Given the description of an element on the screen output the (x, y) to click on. 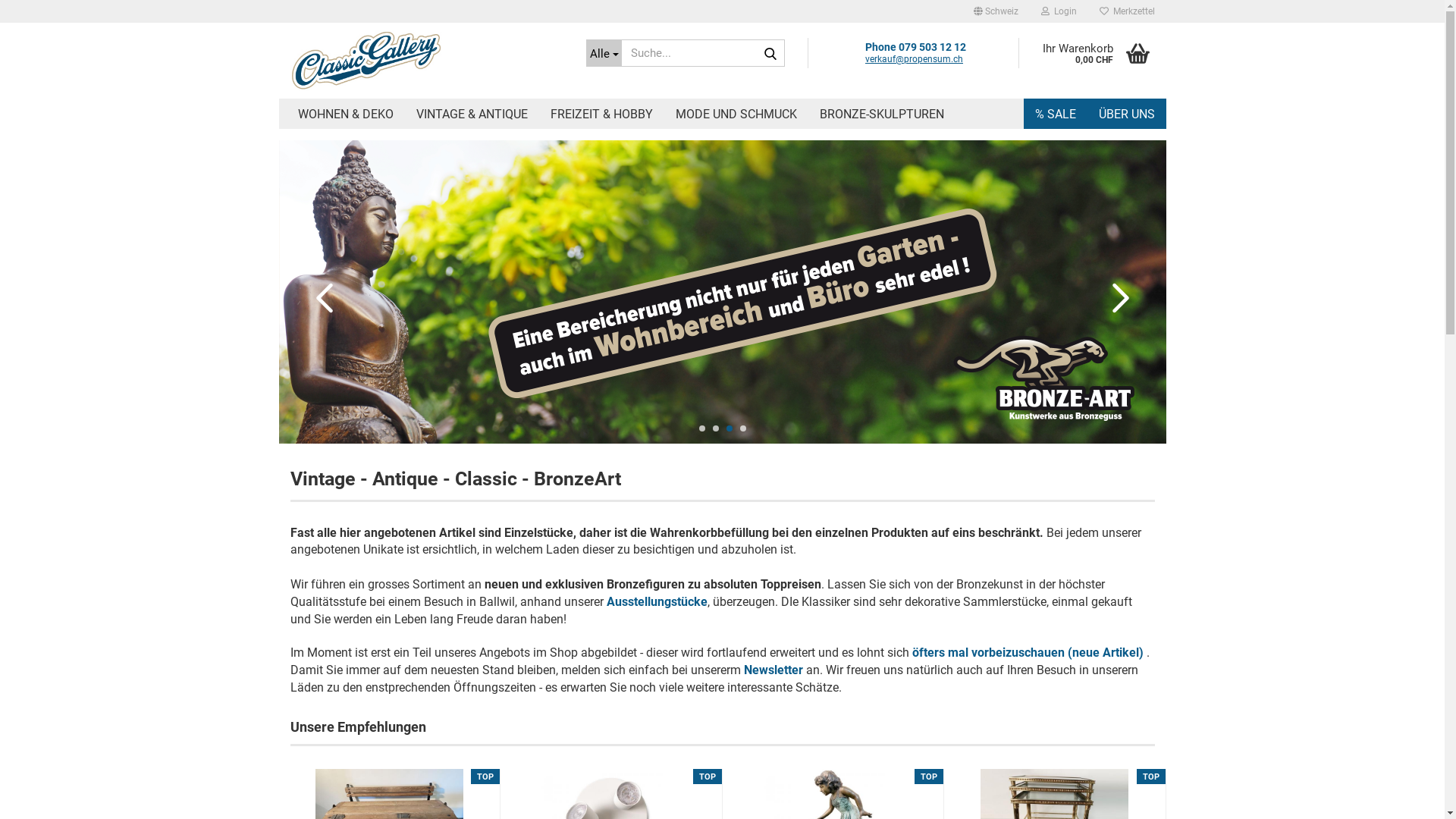
BRONZE-SKULPTUREN Element type: text (881, 113)
Schweiz Element type: text (995, 11)
WOHNEN & DEKO Element type: text (345, 113)
Liquidation Element type: hover (722, 291)
Speichern Element type: text (912, 125)
VINTAGE & ANTIQUE Element type: text (471, 113)
MODE UND SCHMUCK Element type: text (736, 113)
Classic Gallery Element type: hover (425, 60)
Anmelden Element type: text (975, 185)
FREIZEIT & HOBBY Element type: text (600, 113)
Ihr Warenkorb
0,00 CHF Element type: text (1091, 52)
Alle Element type: text (603, 52)
% SALE Element type: text (1055, 113)
 Merkzettel Element type: text (1126, 11)
verkauf@propensum.ch Element type: text (914, 58)
Newsletter Element type: text (774, 669)
 Login Element type: text (1058, 11)
